Given the description of an element on the screen output the (x, y) to click on. 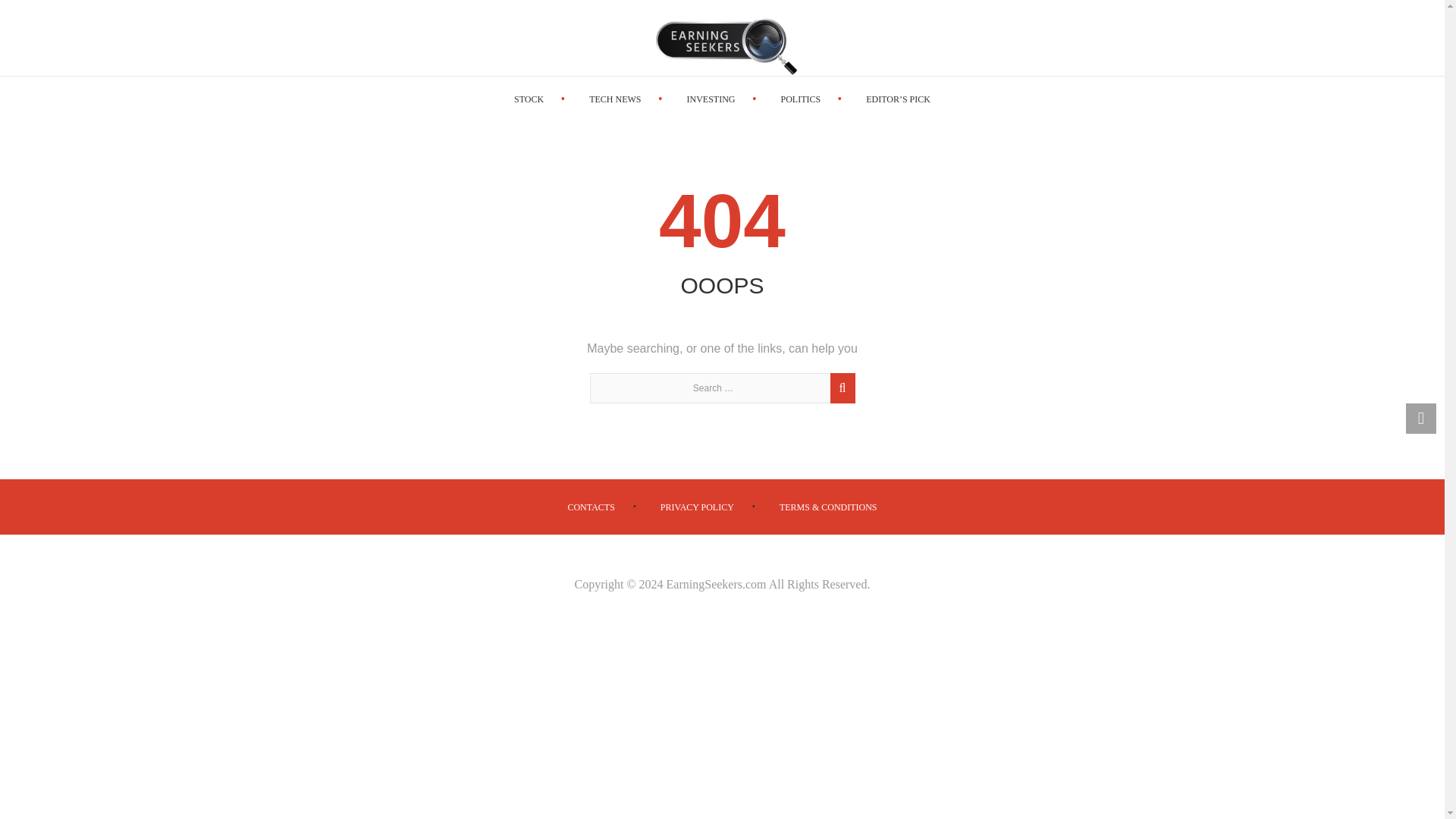
STOCK (528, 98)
POLITICS (800, 98)
PRIVACY POLICY (697, 507)
CONTACTS (590, 507)
INVESTING (710, 98)
Search (1399, 37)
TECH NEWS (614, 98)
Search (840, 395)
Tech News (614, 98)
Search (840, 395)
